Given the description of an element on the screen output the (x, y) to click on. 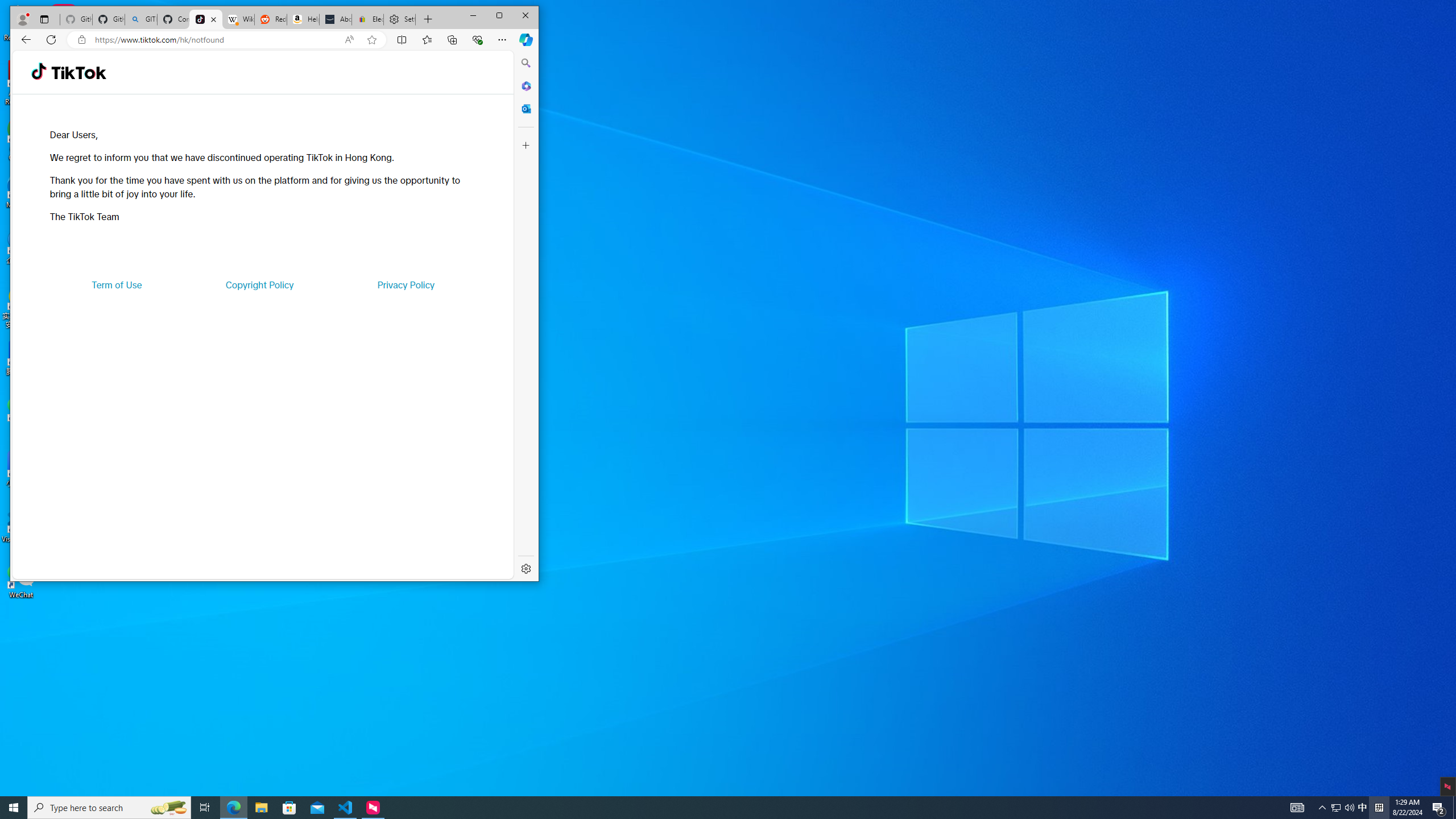
Q2790: 100% (1349, 807)
TikTok (78, 72)
Start (13, 807)
AutomationID: 4105 (1362, 807)
Term of Use (1297, 807)
Wikipedia, the free encyclopedia (116, 284)
